Given the description of an element on the screen output the (x, y) to click on. 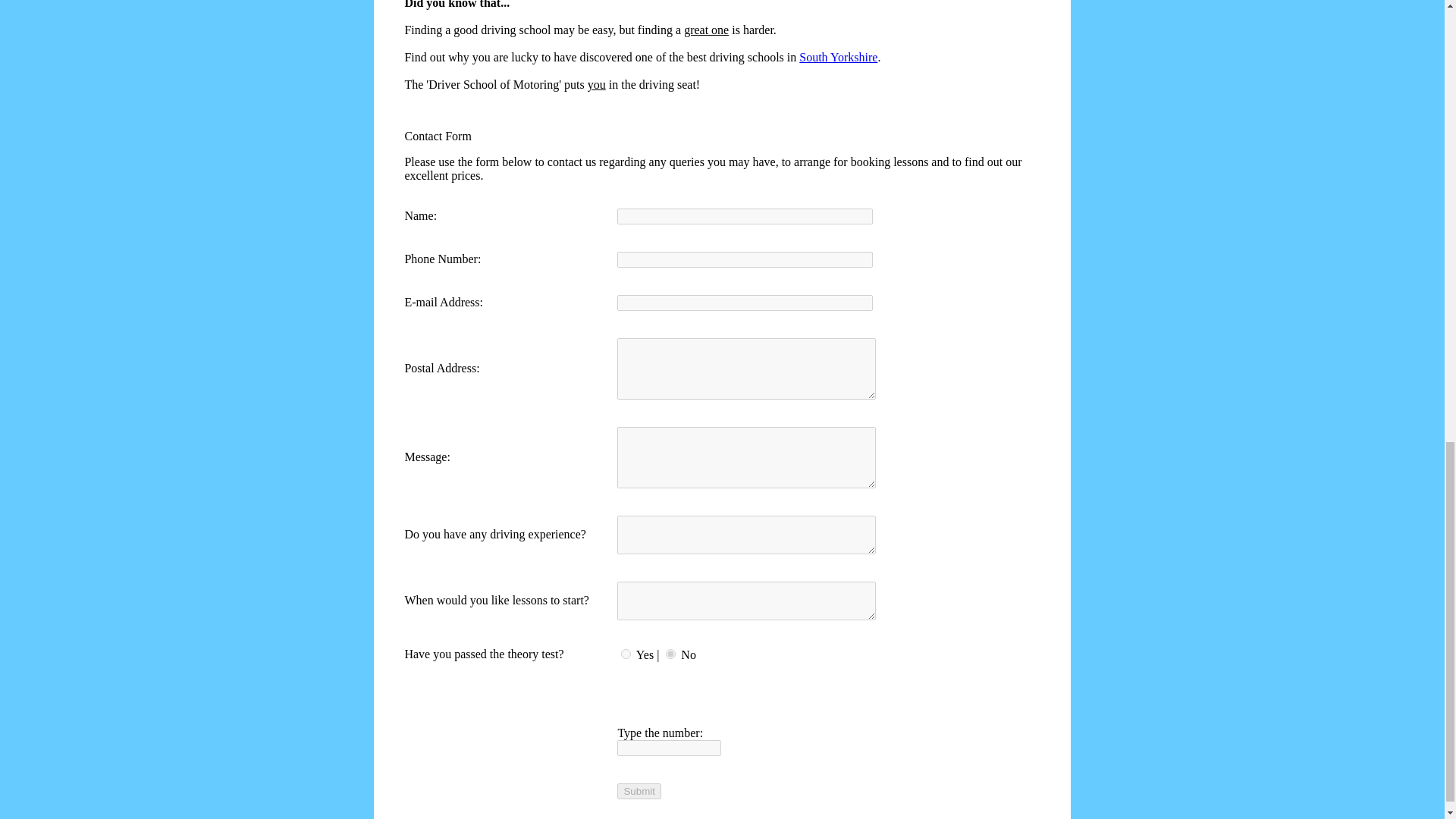
Yes (625, 654)
Submit (639, 790)
No (670, 654)
Submit (639, 790)
South Yorkshire (838, 56)
